Given the description of an element on the screen output the (x, y) to click on. 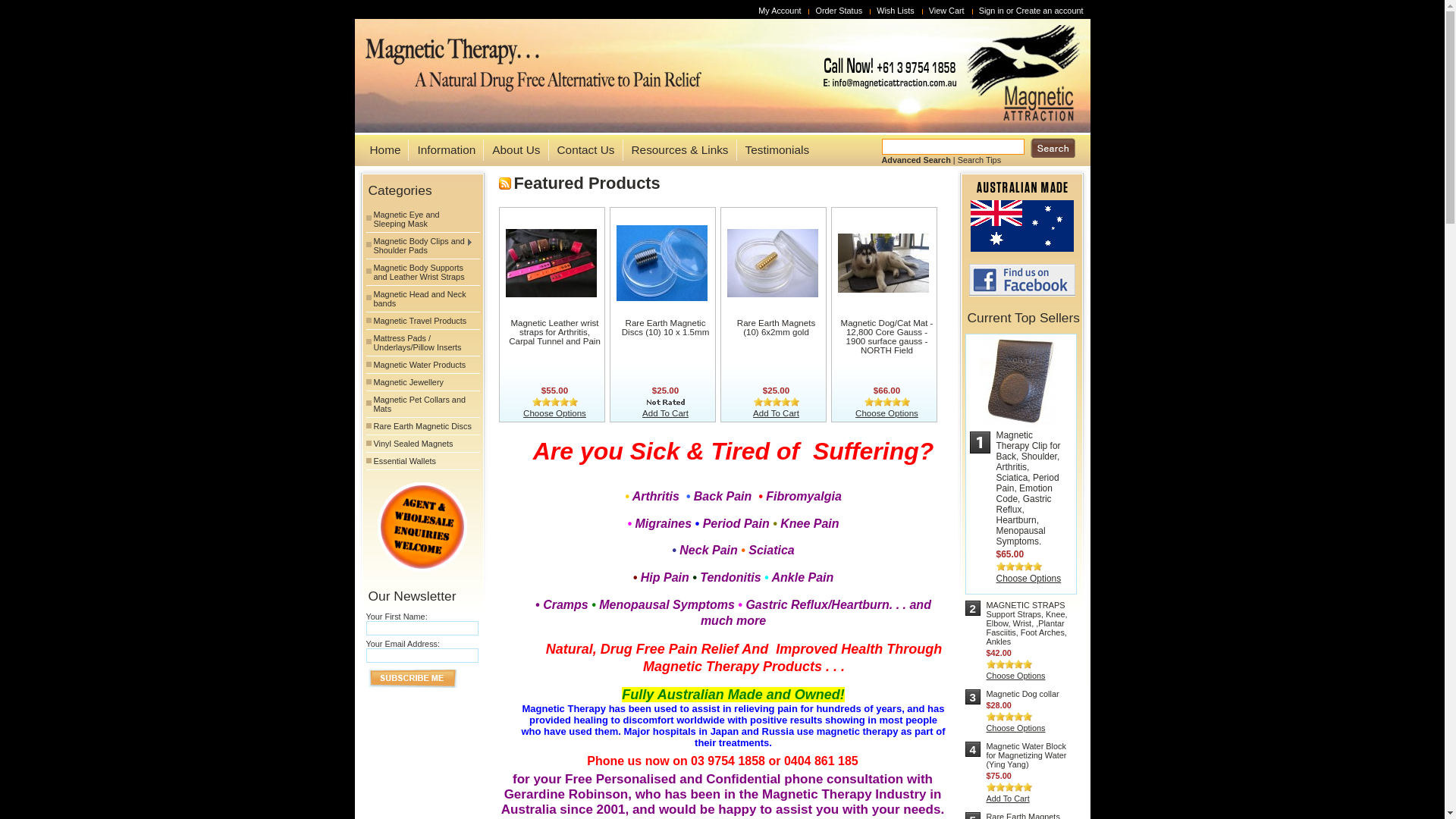
Magnetic Travel Products Element type: text (422, 320)
Information Element type: text (441, 149)
Add To Cart Element type: text (1007, 798)
Resources & Links Element type: text (674, 149)
Vinyl Sealed Magnets Element type: text (422, 443)
Create an account Element type: text (1049, 10)
Magnetic Body Supports and Leather Wrist Straps Element type: text (422, 272)
Magnetic Water Block for Magnetizing Water (Ying Yang) Element type: text (1025, 754)
Magnetic Pet Collars and Mats Element type: text (422, 404)
Advanced Search Element type: text (915, 159)
Sign in Element type: text (991, 10)
Magnetic Water Products Element type: text (422, 364)
About Us Element type: text (511, 149)
Rare Earth Magnets (10) 6x2mm gold Element type: text (776, 327)
View Cart Element type: text (948, 10)
Choose Options Element type: text (1014, 675)
Home Element type: text (380, 149)
Contact Us Element type: text (581, 149)
Add To Cart Element type: text (665, 412)
Order Status Element type: text (840, 10)
Magnetic Head and Neck bands Element type: text (422, 298)
Choose Options Element type: text (886, 412)
Mattress Pads / Underlays/Pillow Inserts Element type: text (422, 342)
Magnetic Jewellery Element type: text (422, 381)
Search Tips Element type: text (979, 159)
Essential Wallets Element type: text (422, 460)
Wish Lists Element type: text (897, 10)
Choose Options Element type: text (1028, 578)
Add To Cart Element type: text (776, 412)
Choose Options Element type: text (1014, 727)
Choose Options Element type: text (554, 412)
Magnetic Dog collar Element type: text (1021, 693)
Rare Earth Magnetic Discs (10) 10 x 1.5mm Element type: text (665, 327)
Rare Earth Magnetic Discs Element type: text (422, 425)
My Account Element type: text (781, 10)
Testimonials Element type: text (772, 149)
Magnetic Eye and Sleeping Mask Element type: text (422, 219)
Featured Products RSS Feed Element type: hover (504, 183)
